Given the description of an element on the screen output the (x, y) to click on. 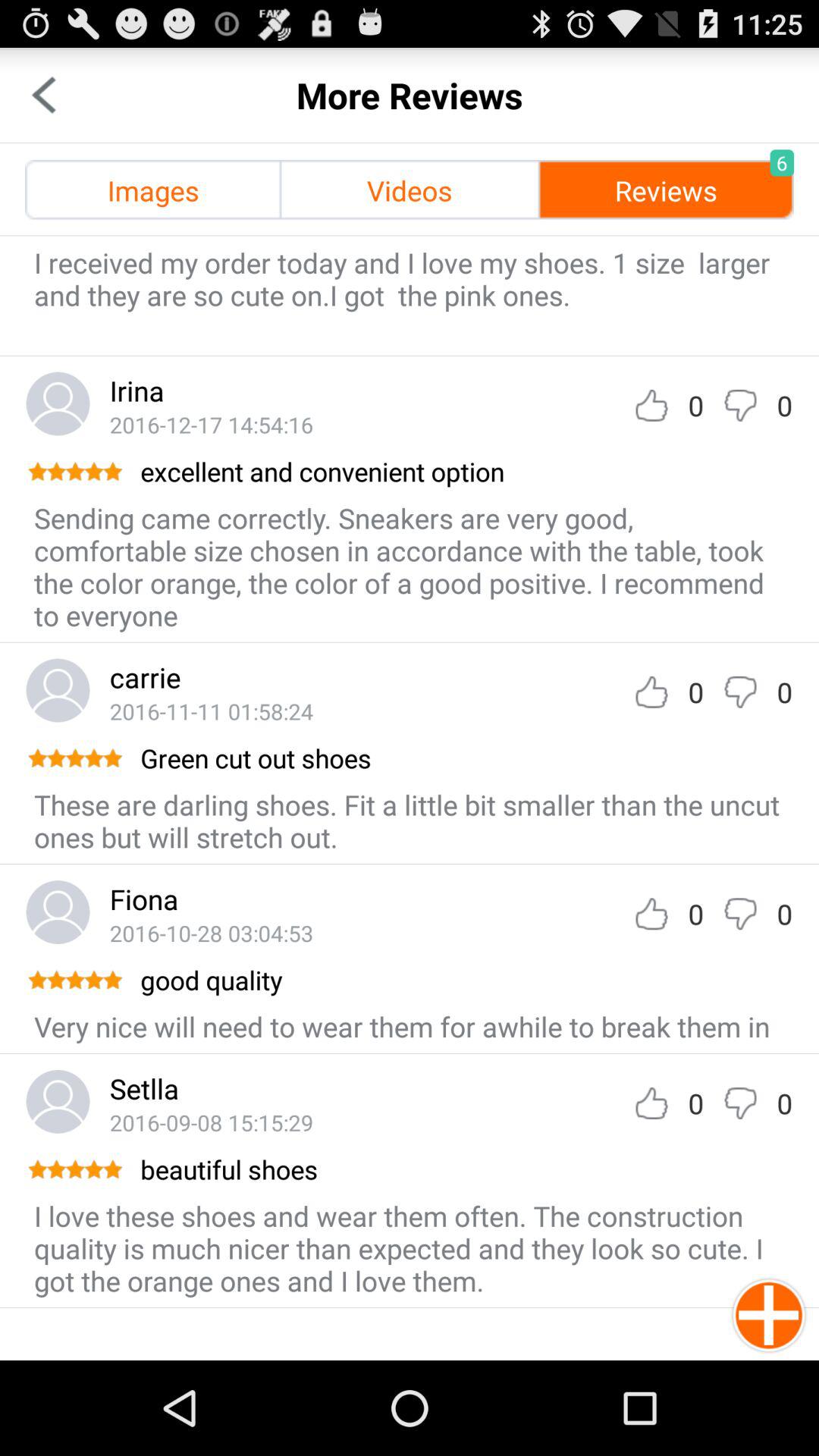
thumbs down (740, 913)
